Given the description of an element on the screen output the (x, y) to click on. 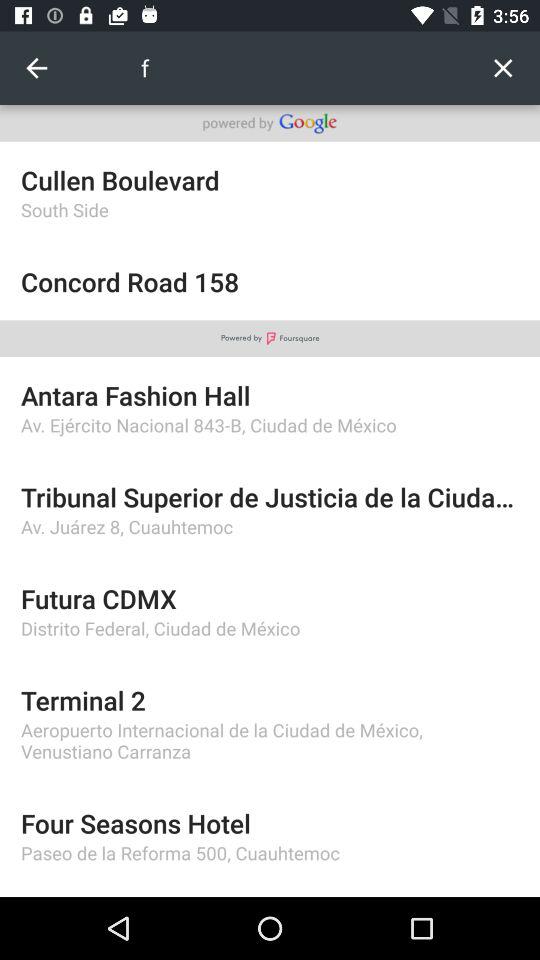
choose the icon below the south side item (270, 281)
